Given the description of an element on the screen output the (x, y) to click on. 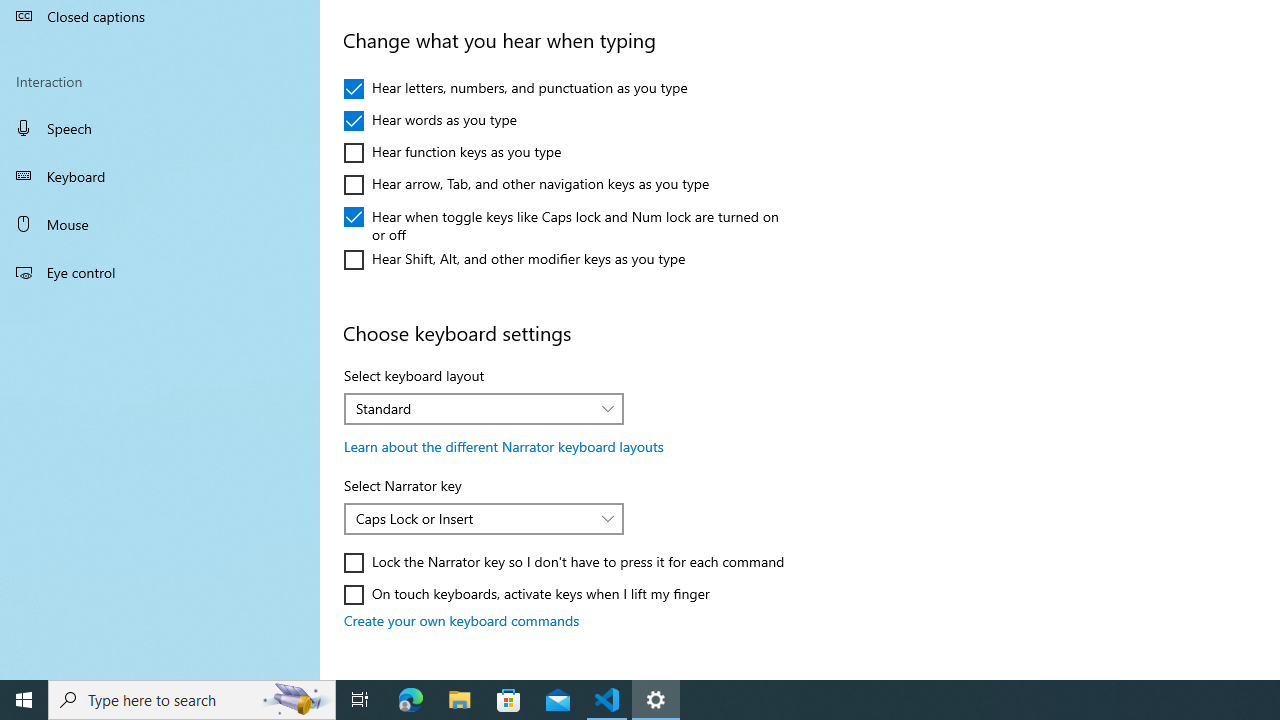
Select Narrator key (484, 518)
Eye control (160, 271)
Speech (160, 127)
Hear words as you type (430, 120)
Hear Shift, Alt, and other modifier keys as you type (515, 259)
Hear letters, numbers, and punctuation as you type (516, 88)
Mouse (160, 223)
